Given the description of an element on the screen output the (x, y) to click on. 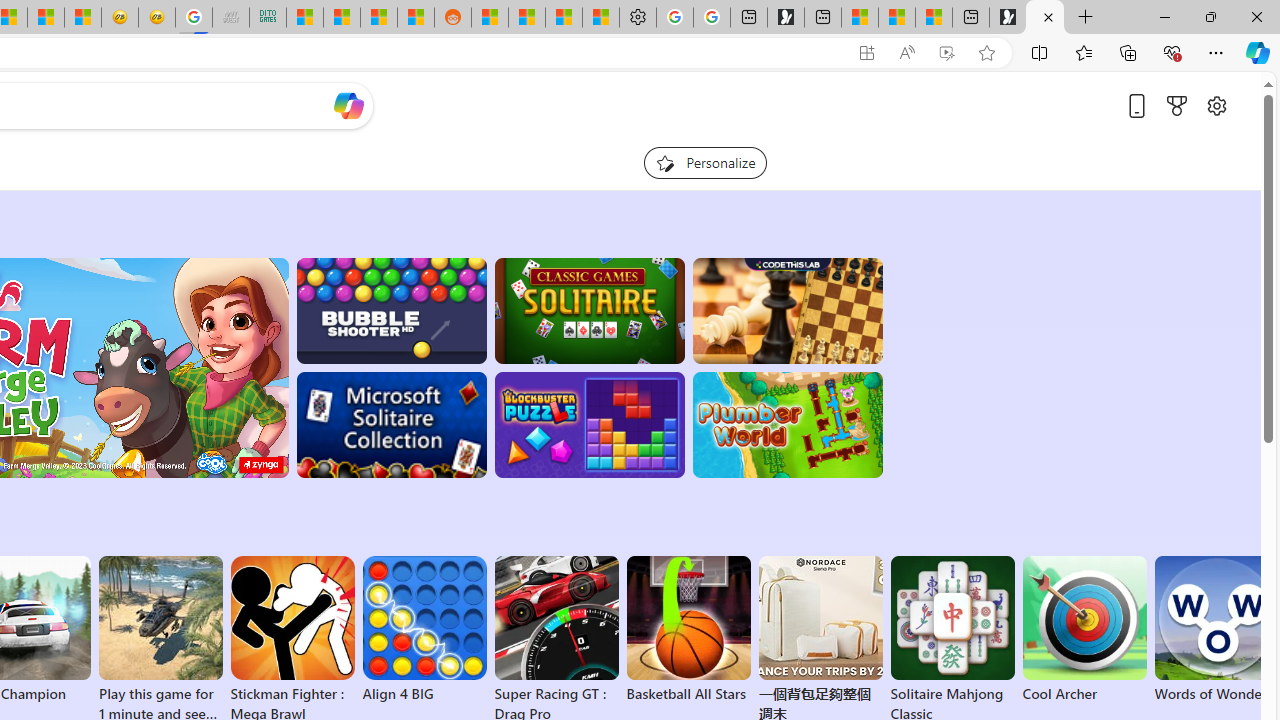
App available. Install Games from Microsoft Start (867, 53)
Basketball All Stars (688, 629)
